Given the description of an element on the screen output the (x, y) to click on. 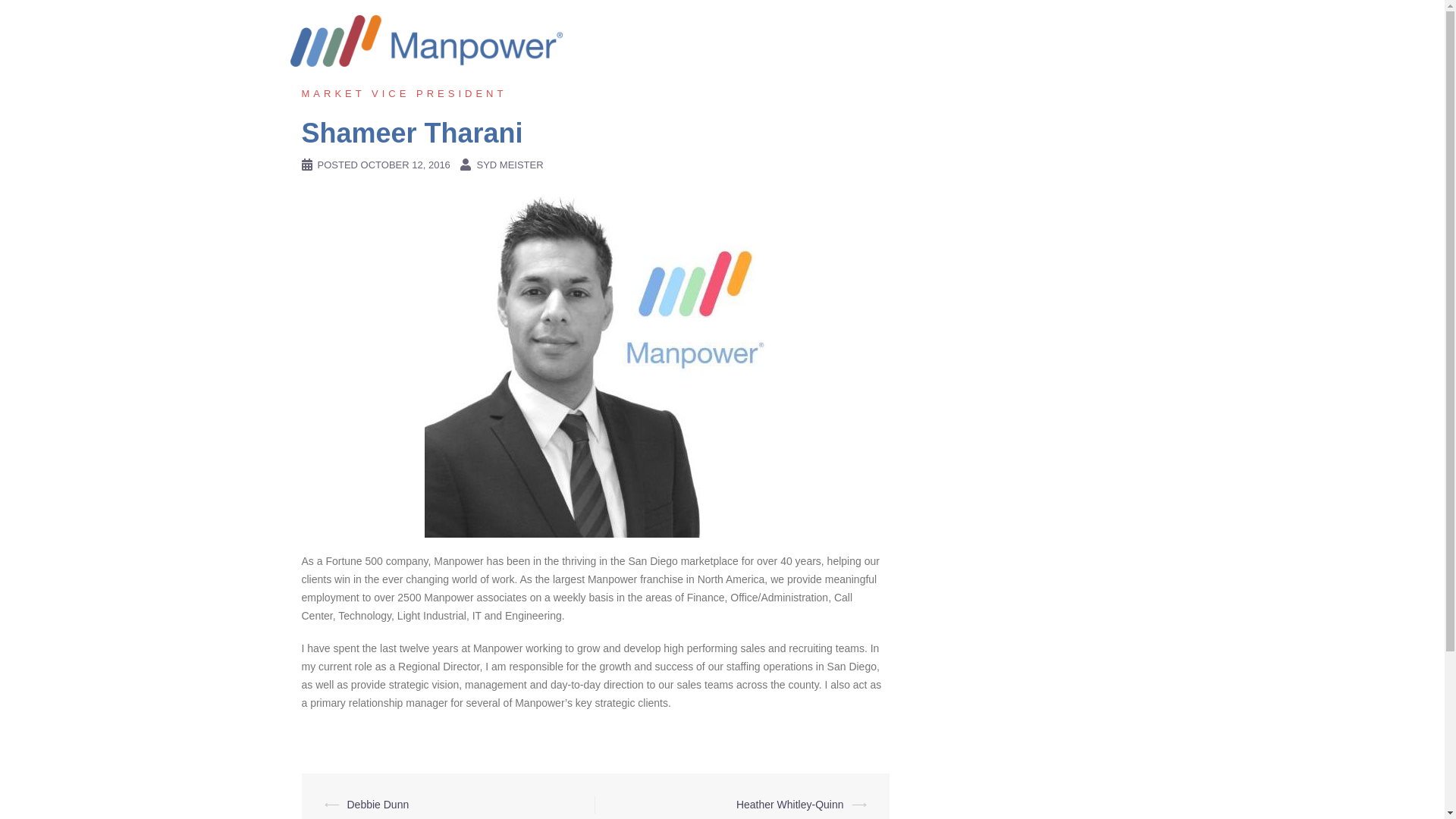
Employers (969, 54)
Debbie Dunn (378, 804)
Heather Whitley-Quinn (790, 804)
Manpower Riverside (425, 39)
About (829, 54)
Contact Us (1116, 54)
MARKET VICE PRESIDENT (403, 93)
Home (780, 54)
SYD MEISTER (509, 164)
WebCenter (1043, 54)
MARKET VICE PRESIDENT (403, 93)
OCTOBER 12, 2016 (405, 164)
Job Seekers (894, 54)
